Given the description of an element on the screen output the (x, y) to click on. 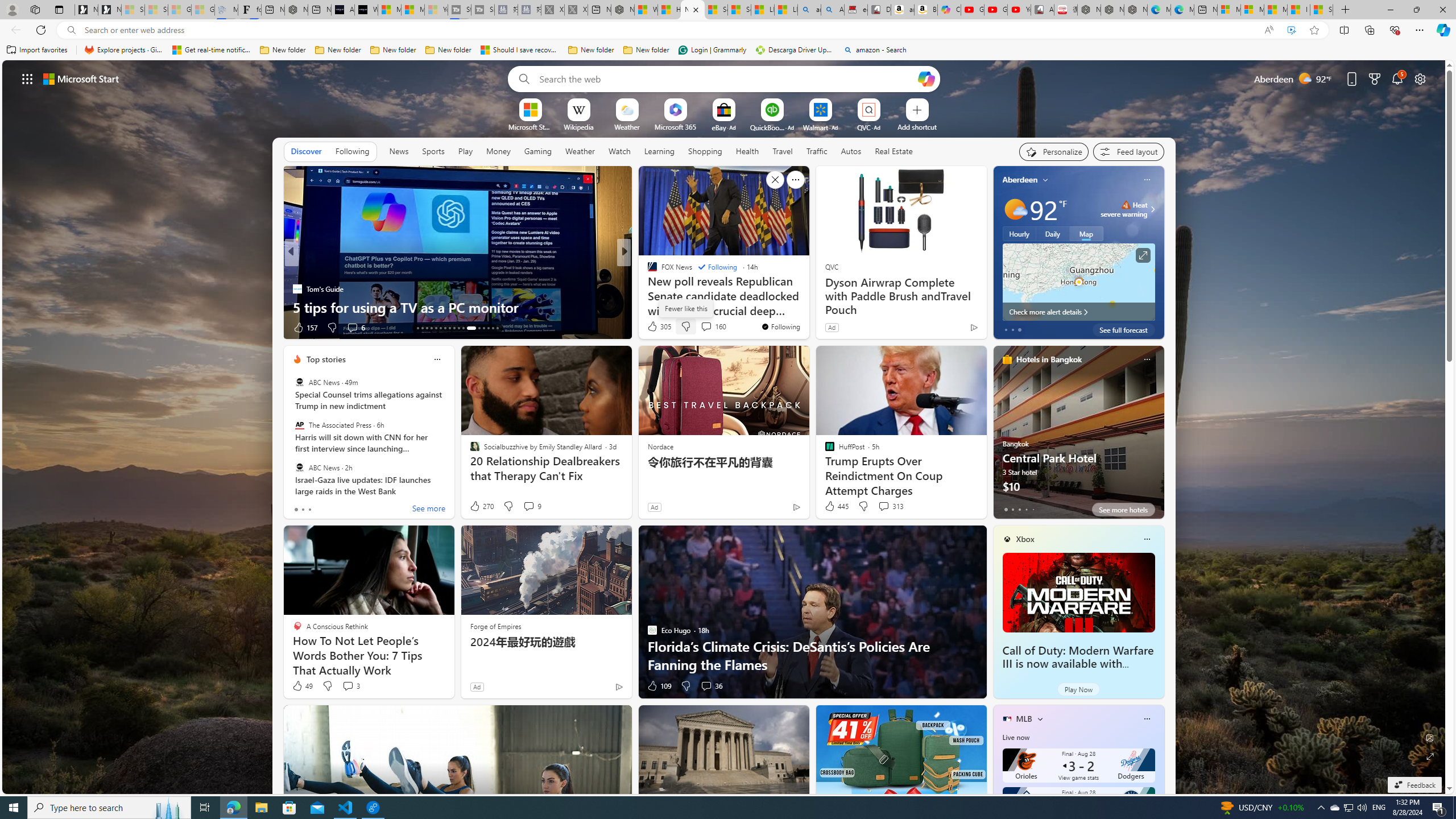
Cents + Purpose (647, 288)
Traffic (816, 151)
More options (1146, 718)
View comments 3 Comment (350, 685)
Traffic (816, 151)
Microsoft Start Sports (529, 126)
Larger map  (1077, 282)
Newsweek (647, 270)
Close tab (695, 9)
New tab (1205, 9)
Personal Profile (12, 9)
AutomationID: tab-22 (458, 328)
Copilot (Ctrl+Shift+.) (1442, 29)
Watch (619, 151)
